Given the description of an element on the screen output the (x, y) to click on. 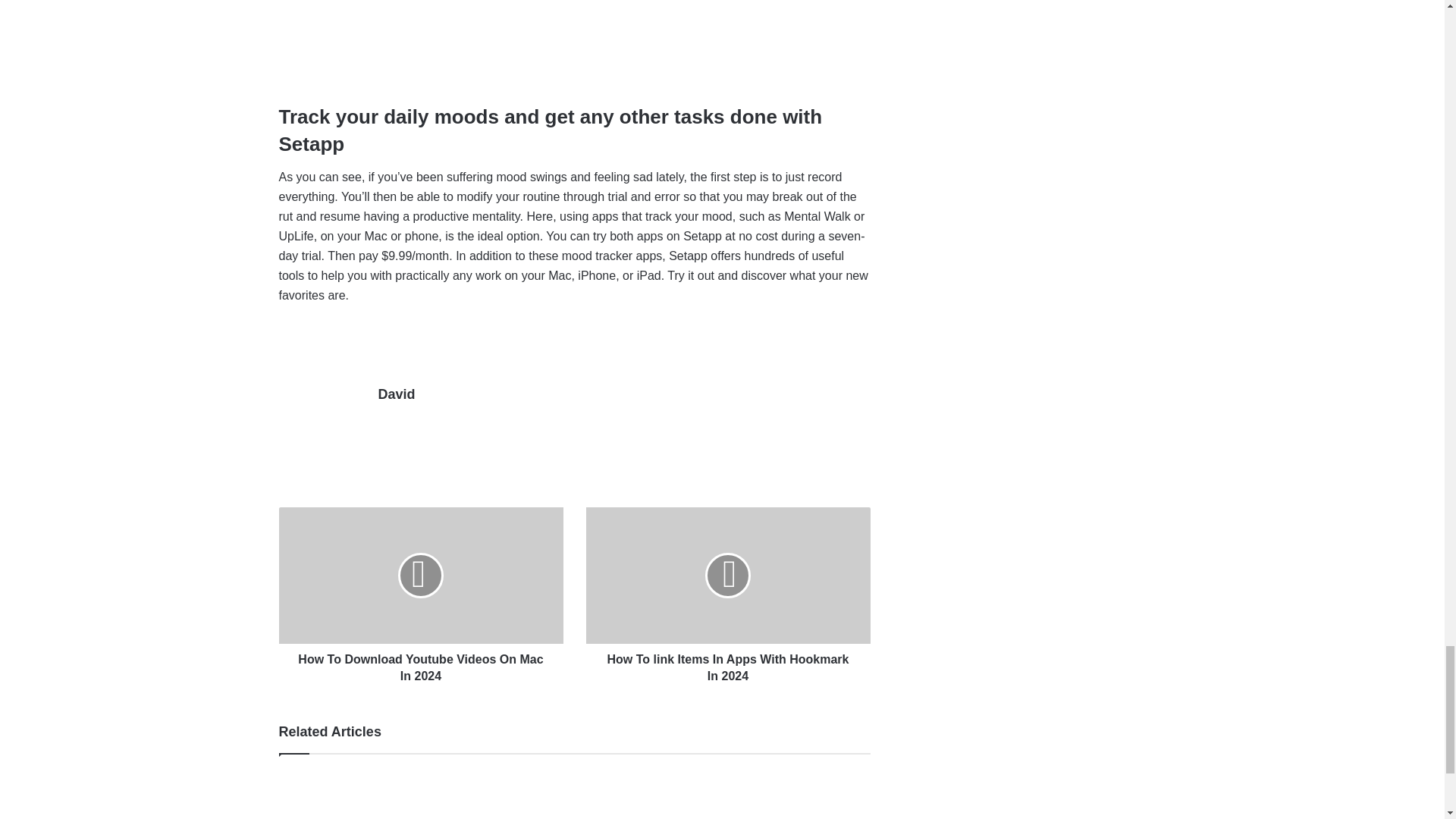
How To Download Youtube Videos On Mac In 2024 (421, 574)
How To Download Youtube Videos On Mac In 2024 (421, 663)
David (395, 394)
How To link Items In Apps With Hookmark In 2024 (727, 574)
